Given the description of an element on the screen output the (x, y) to click on. 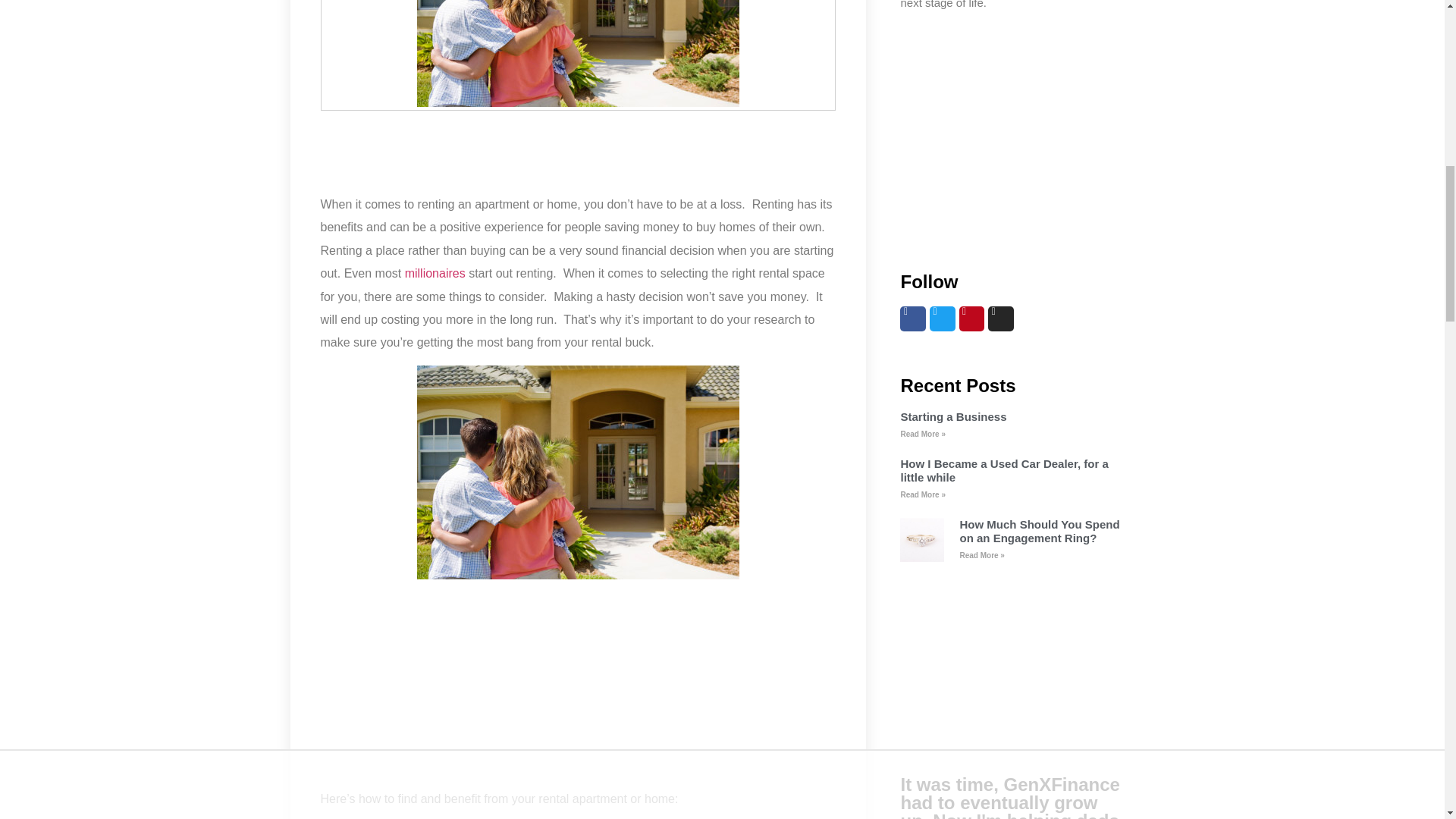
how to become a millionaire (434, 273)
Starting a Business (952, 416)
How Much Should You Spend on an Engagement Ring? (1039, 530)
tips for finding an apartment (577, 472)
millionaires (434, 273)
How I Became a Used Car Dealer, for a little while (1003, 470)
